Given the description of an element on the screen output the (x, y) to click on. 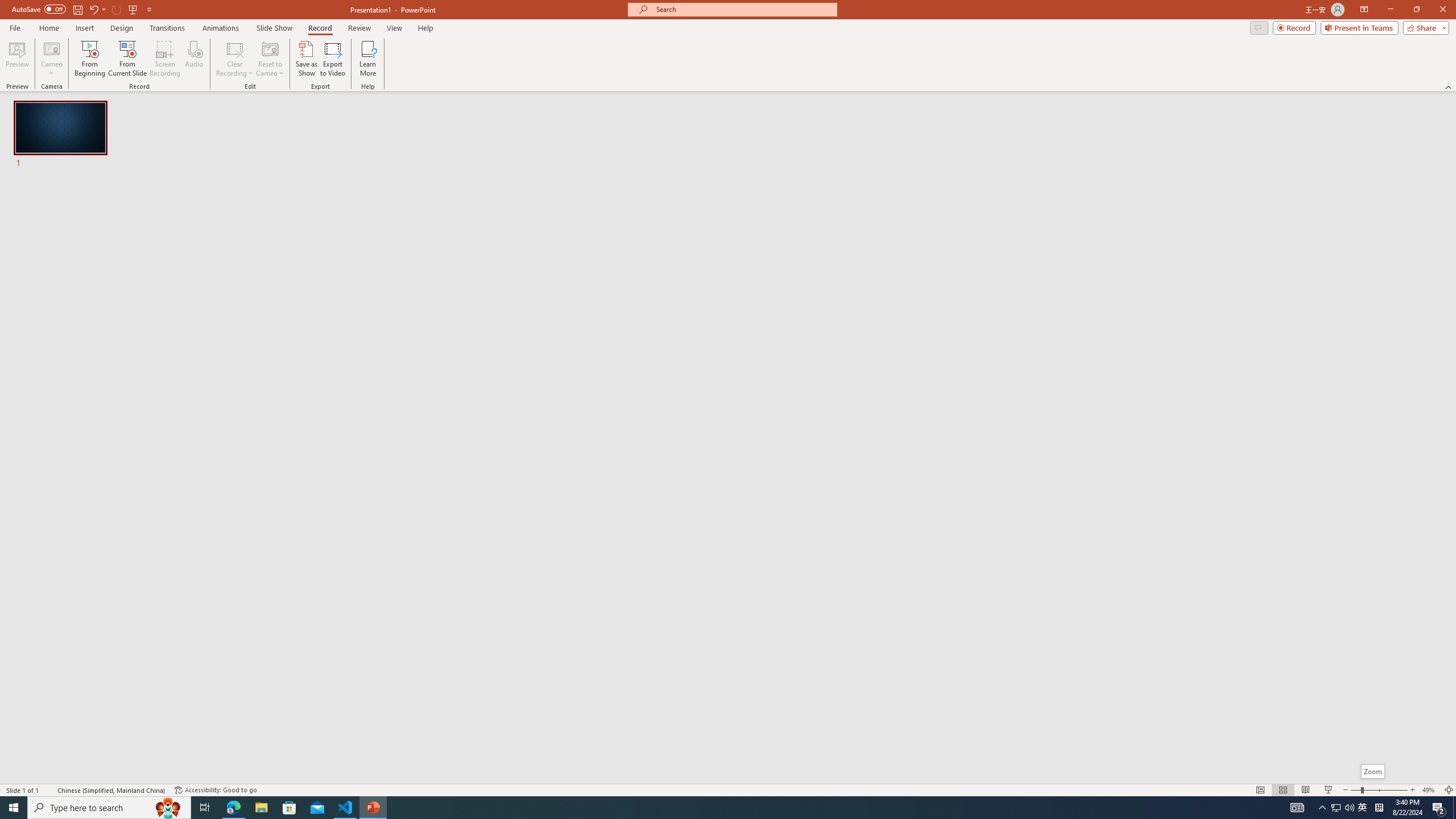
Zoom 49% (1430, 790)
